Given the description of an element on the screen output the (x, y) to click on. 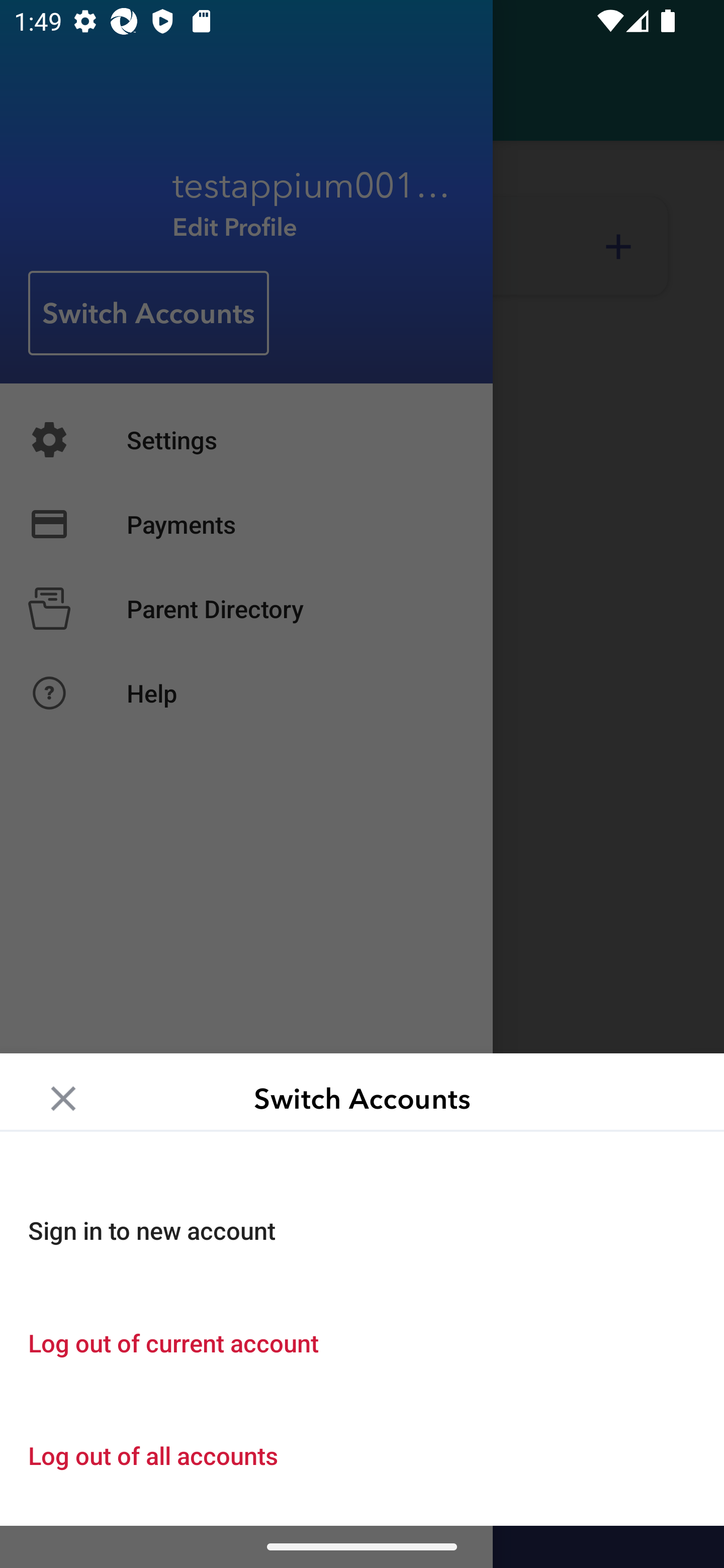
Sign in to new account (361, 1230)
Log out of current account (361, 1341)
Log out of all accounts (361, 1454)
